Given the description of an element on the screen output the (x, y) to click on. 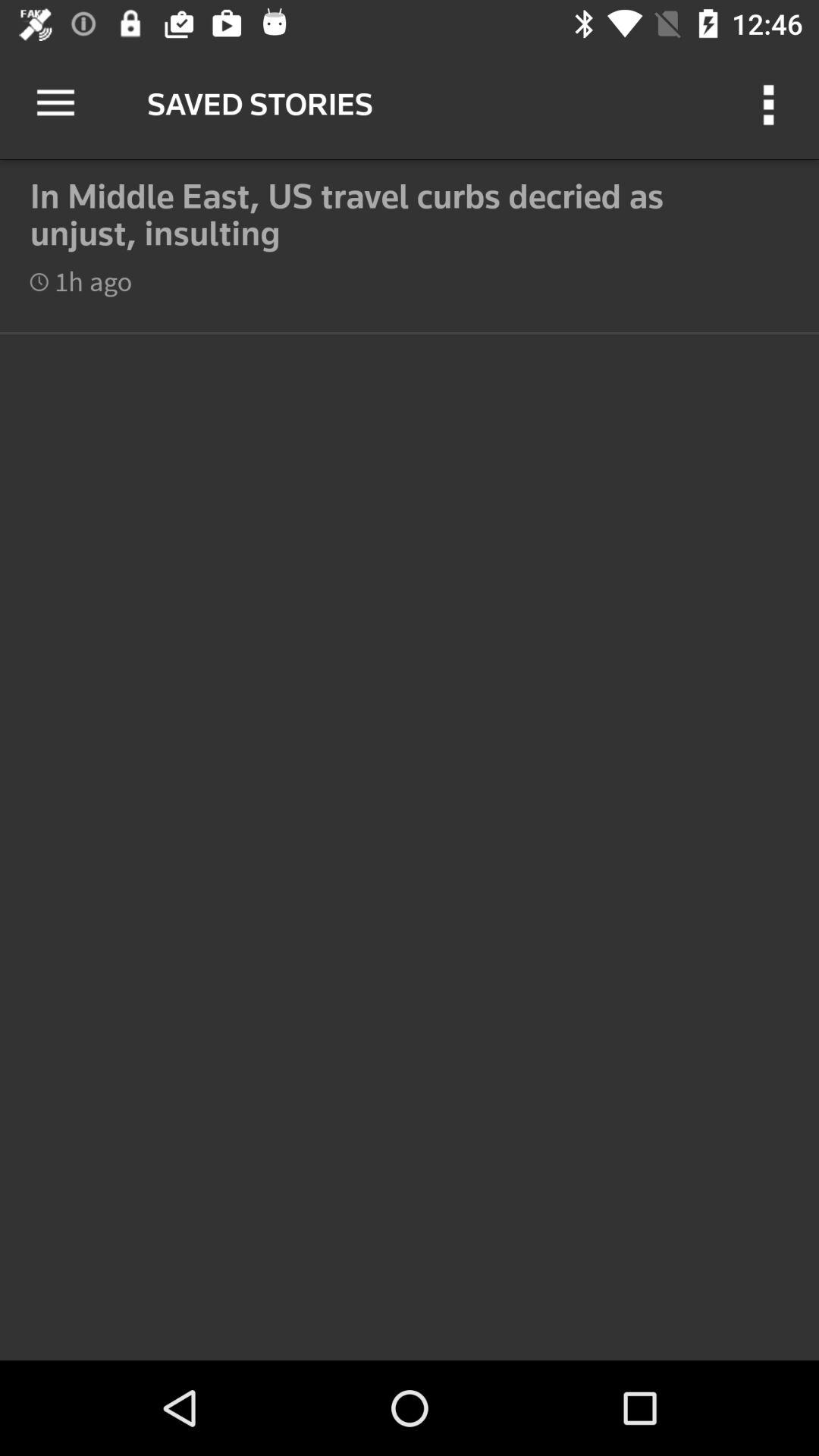
choose icon at the top right corner (771, 103)
